Given the description of an element on the screen output the (x, y) to click on. 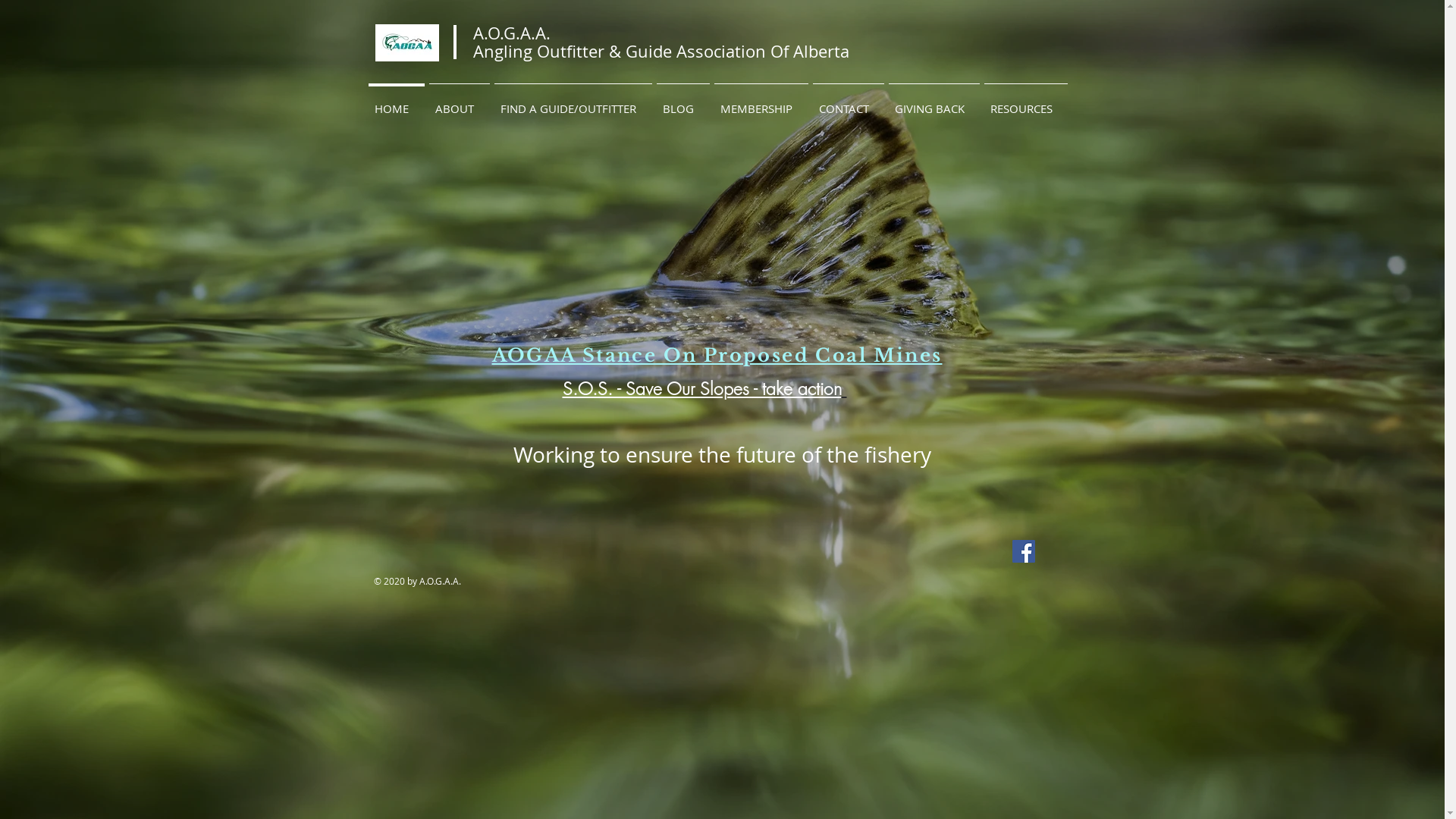
A.O.G.A.A. Element type: text (511, 32)
BLOG Element type: text (682, 101)
RESOURCES Element type: text (1025, 101)
HOME Element type: text (395, 101)
ABOUT Element type: text (458, 101)
CONTACT Element type: text (847, 101)
AOGAA Stance On Proposed Coal Mines Element type: text (716, 354)
GIVING BACK Element type: text (933, 101)
MEMBERSHIP Element type: text (760, 101)
S.O.S. - Save Our Slopes - take action  Element type: text (704, 388)
FIND A GUIDE/OUTFITTER Element type: text (572, 101)
